Given the description of an element on the screen output the (x, y) to click on. 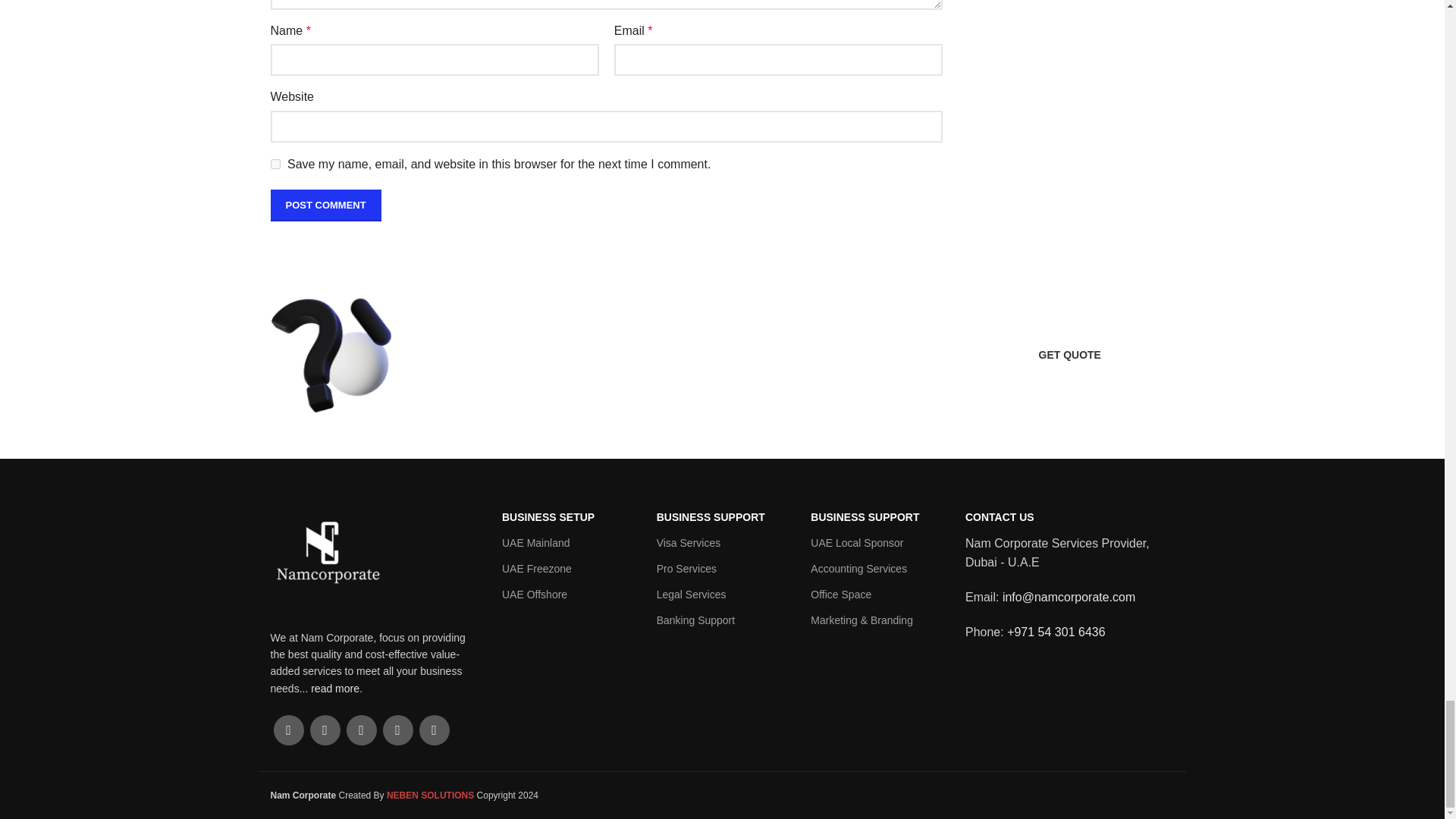
UAE Offshore (567, 594)
UAE Visa Services (722, 542)
UAE Free Zone (567, 568)
Post Comment (324, 205)
Business Setup (567, 516)
Legal Services (722, 594)
yes (274, 163)
Business Support (722, 516)
UAE Mainland Company Formation (567, 542)
